Given the description of an element on the screen output the (x, y) to click on. 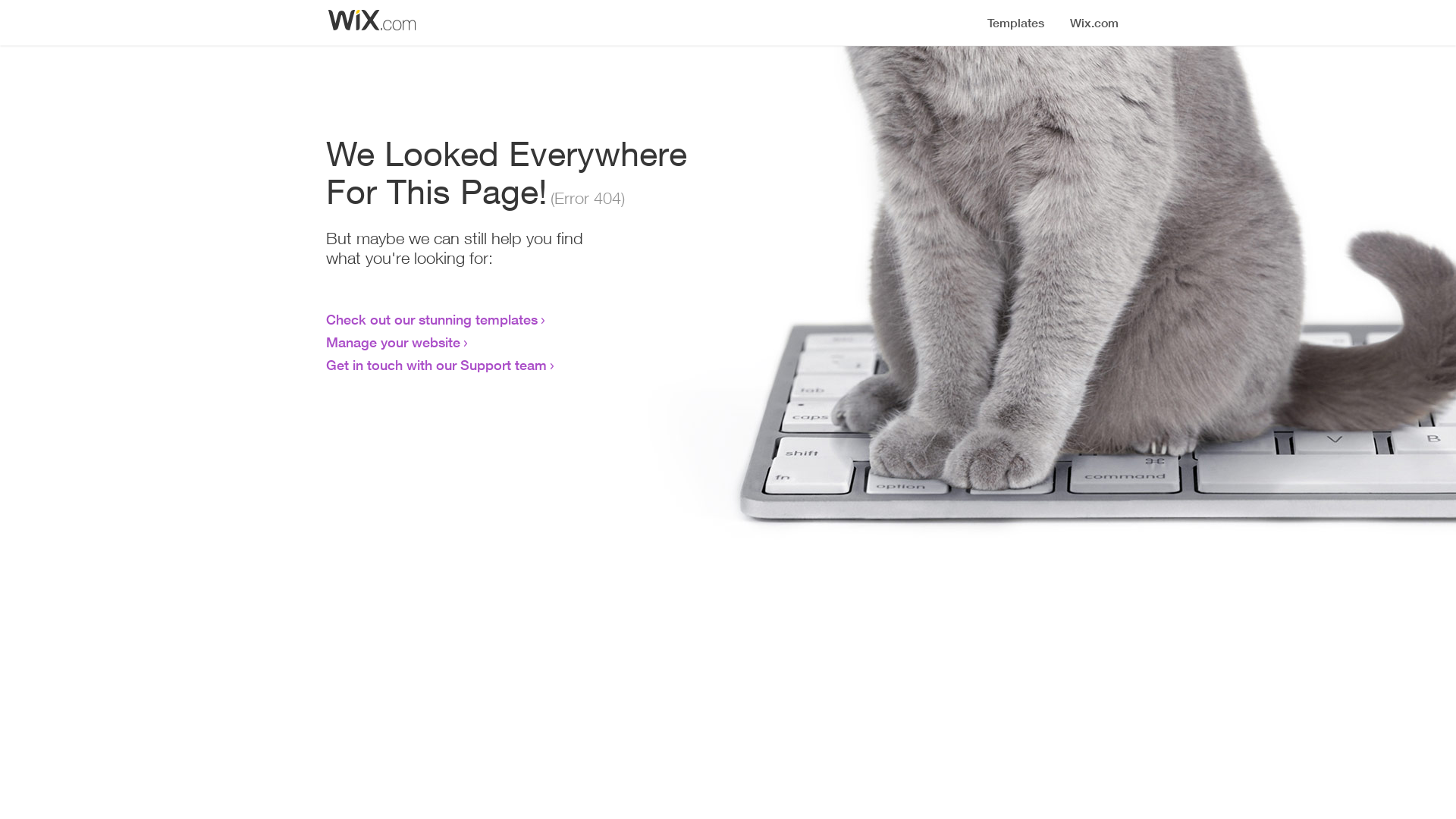
Check out our stunning templates Element type: text (431, 318)
Get in touch with our Support team Element type: text (436, 364)
Manage your website Element type: text (393, 341)
